Given the description of an element on the screen output the (x, y) to click on. 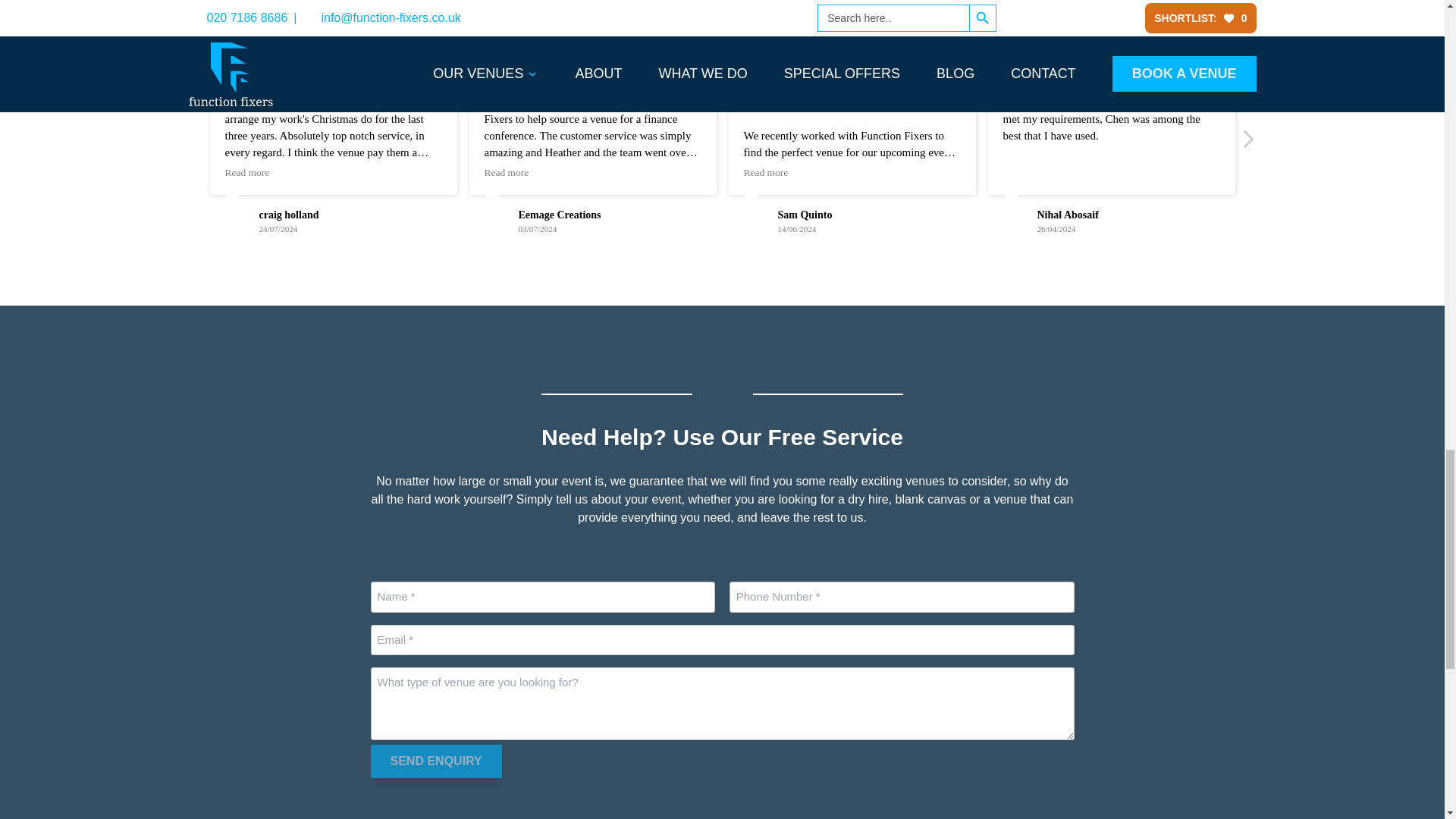
Send Enquiry (434, 761)
